Given the description of an element on the screen output the (x, y) to click on. 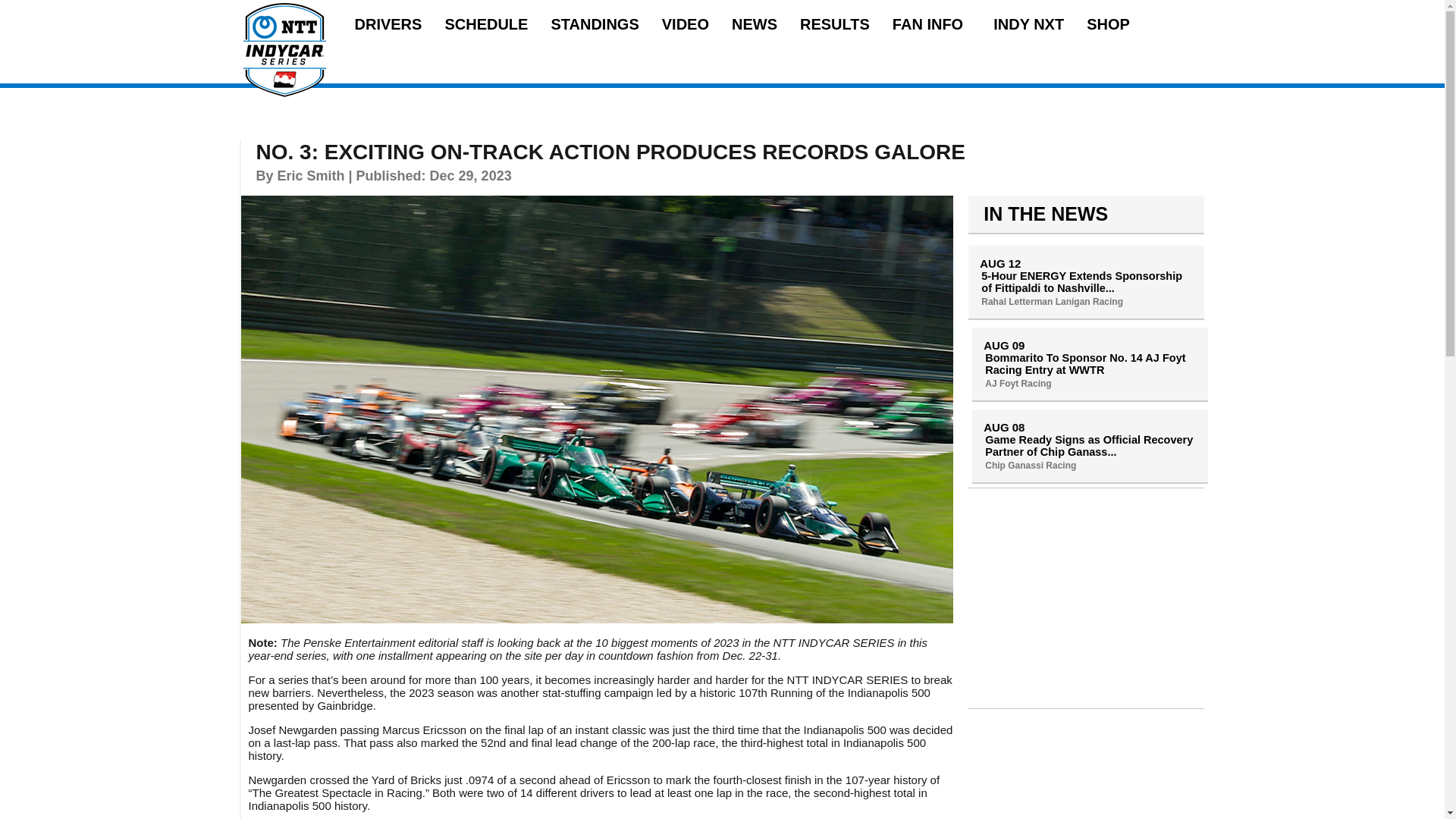
STANDINGS (594, 24)
FAN INFO (931, 24)
INDY NXT (1028, 24)
VIDEO (685, 24)
DRIVERS (388, 24)
NEWS (754, 24)
SHOP (1107, 24)
